Given the description of an element on the screen output the (x, y) to click on. 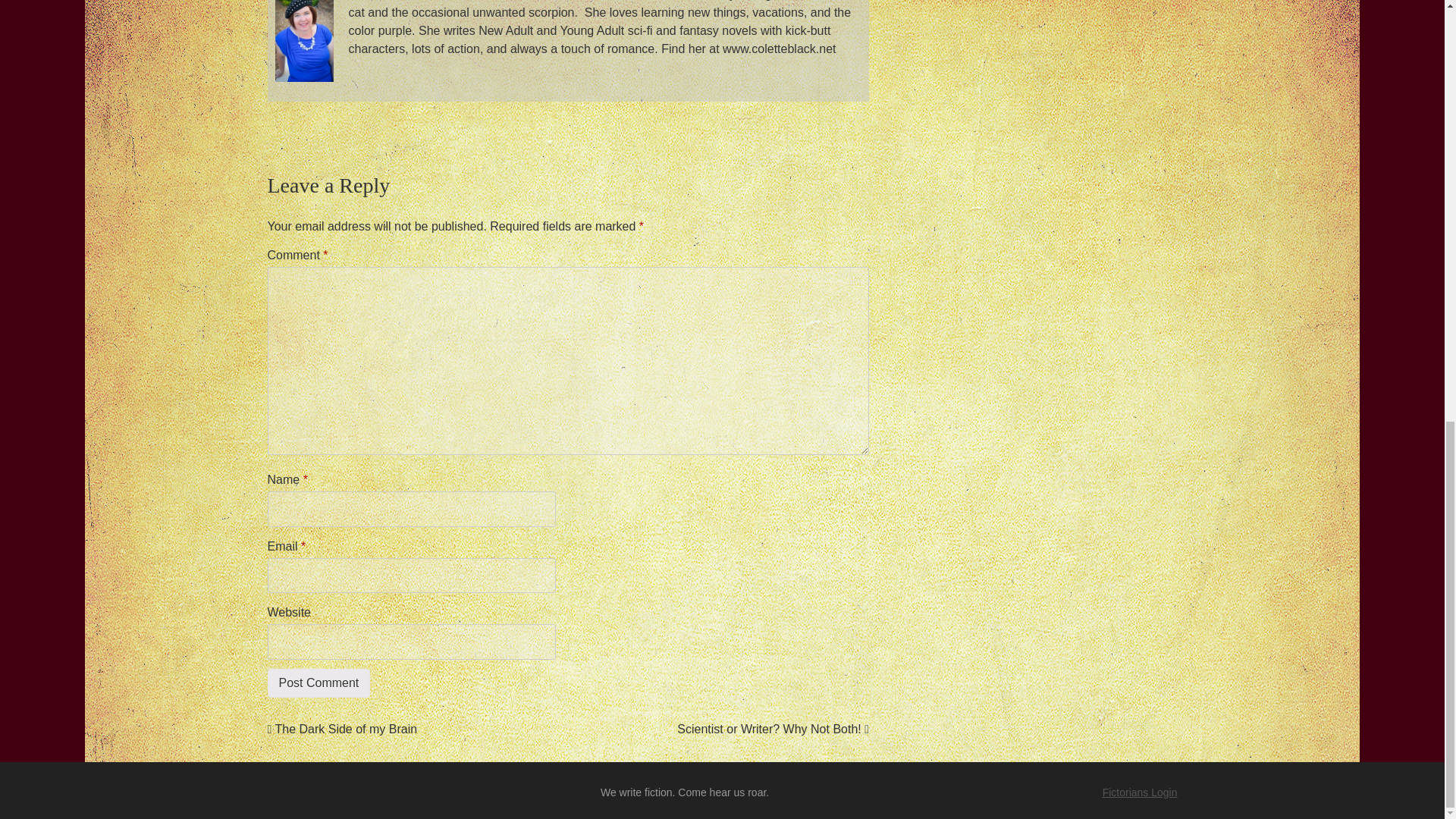
Fictorians Login (1139, 792)
Scientist or Writer? Why Not Both! (773, 728)
Post Comment (317, 683)
Post Comment (317, 683)
The Dark Side of my Brain (341, 728)
